Given the description of an element on the screen output the (x, y) to click on. 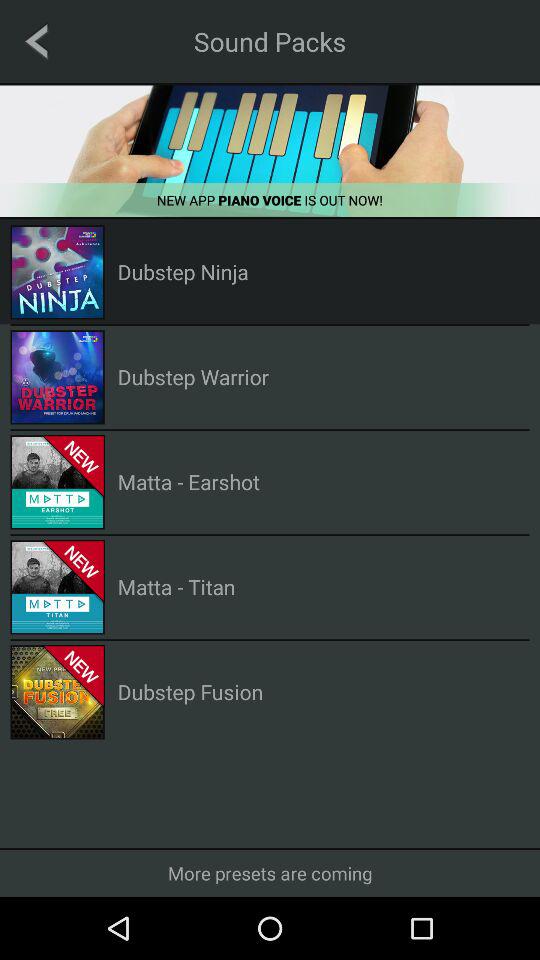
launch icon to the left of the sound packs (36, 41)
